Given the description of an element on the screen output the (x, y) to click on. 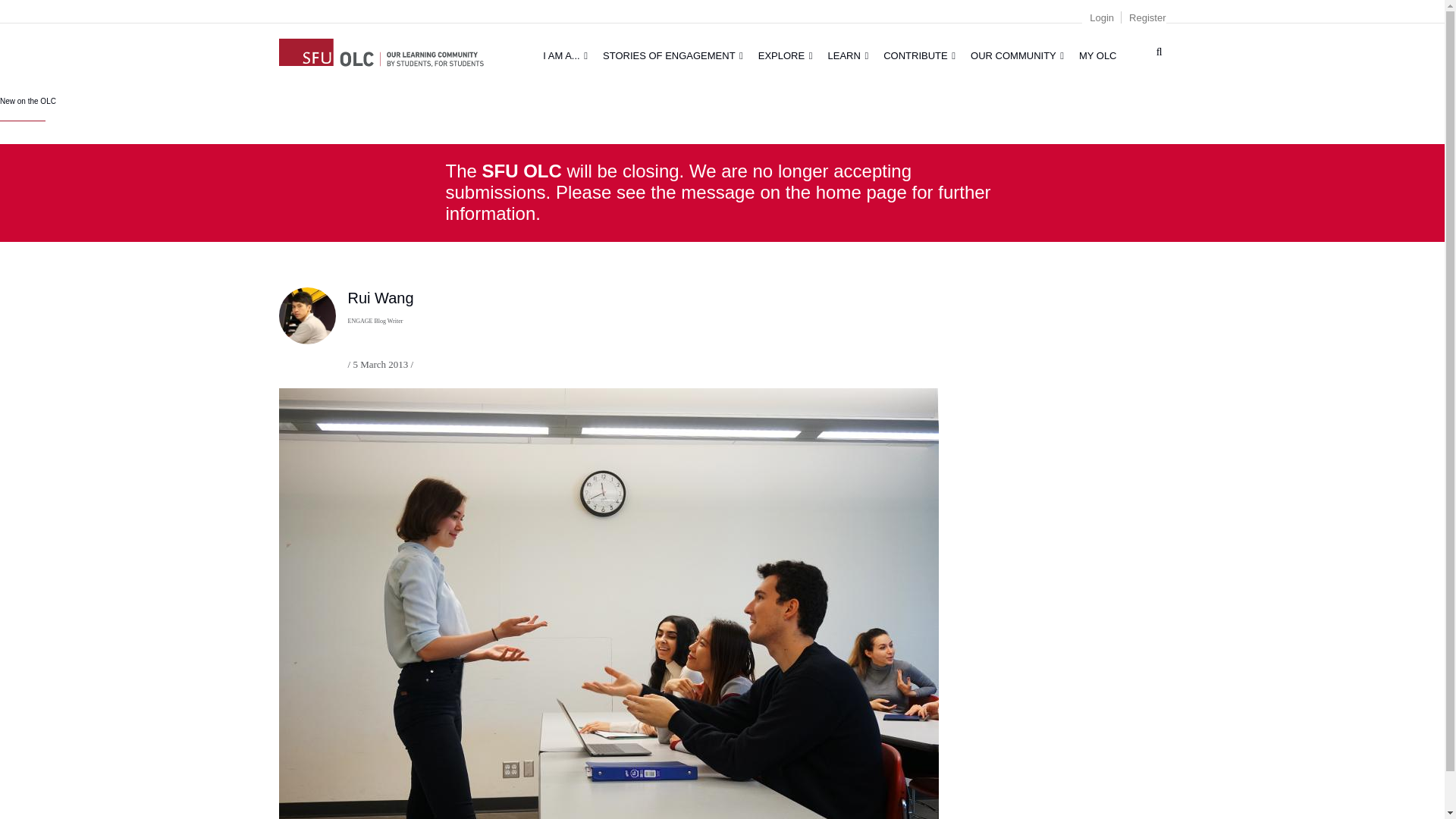
LEARN (848, 55)
CONTRIBUTE (919, 55)
Login (1101, 17)
Register (1147, 17)
STORIES OF ENGAGEMENT (673, 55)
OUR COMMUNITY (1016, 55)
Home (381, 50)
I AM A... (565, 55)
EXPLORE (786, 55)
